Given the description of an element on the screen output the (x, y) to click on. 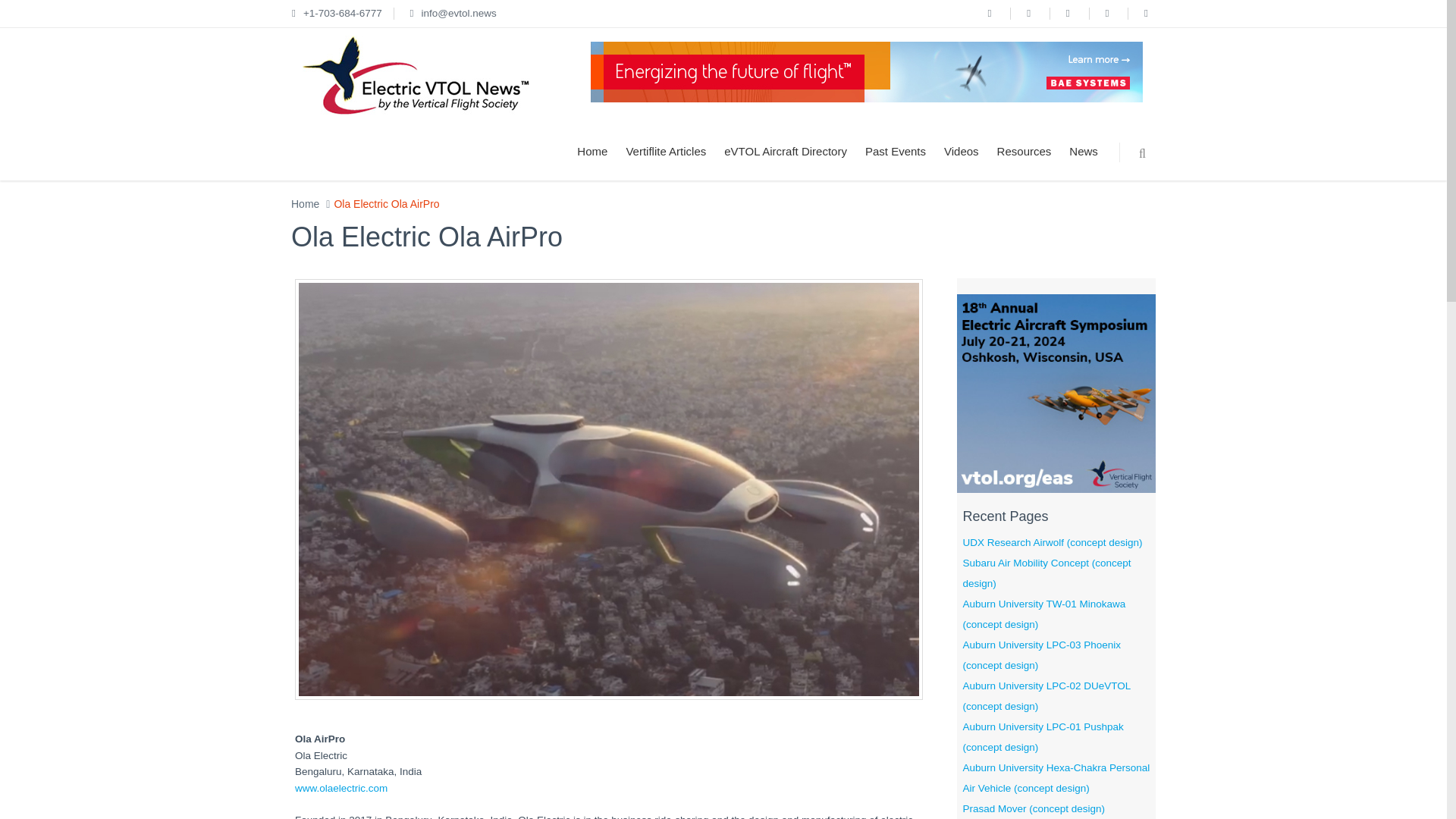
www.olaelectric.com (341, 787)
Vertiflite Articles (664, 151)
Home (304, 203)
Past Events (895, 151)
Videos (961, 151)
eVTOL Aircraft Directory (785, 151)
Resources (1024, 151)
